Given the description of an element on the screen output the (x, y) to click on. 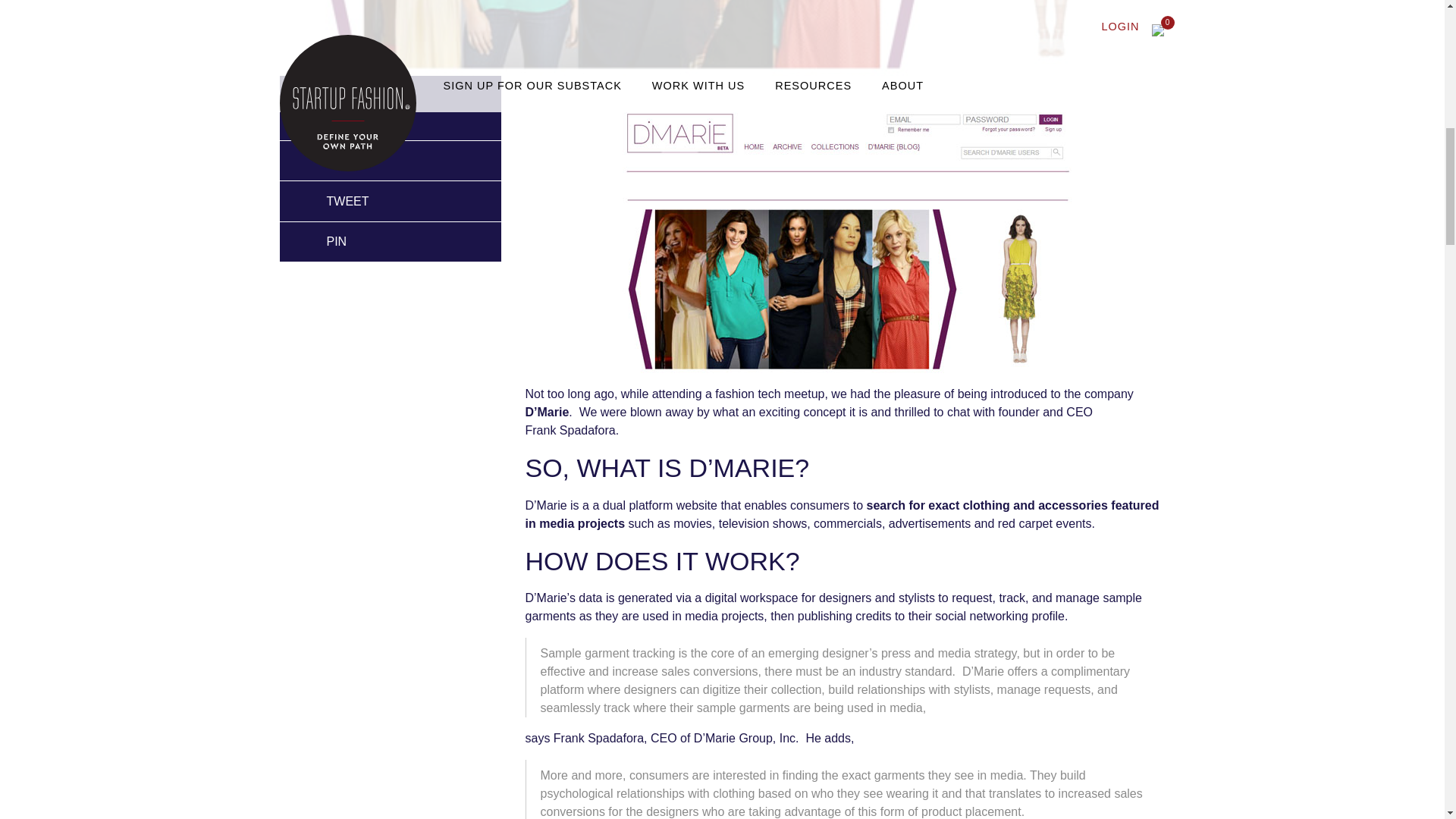
Share on Facebook (329, 160)
D'Marie (546, 411)
SHARE (329, 160)
Pin it (318, 241)
TWEET (329, 201)
PIN (318, 241)
Tweet (329, 201)
D'Marie (845, 236)
